Given the description of an element on the screen output the (x, y) to click on. 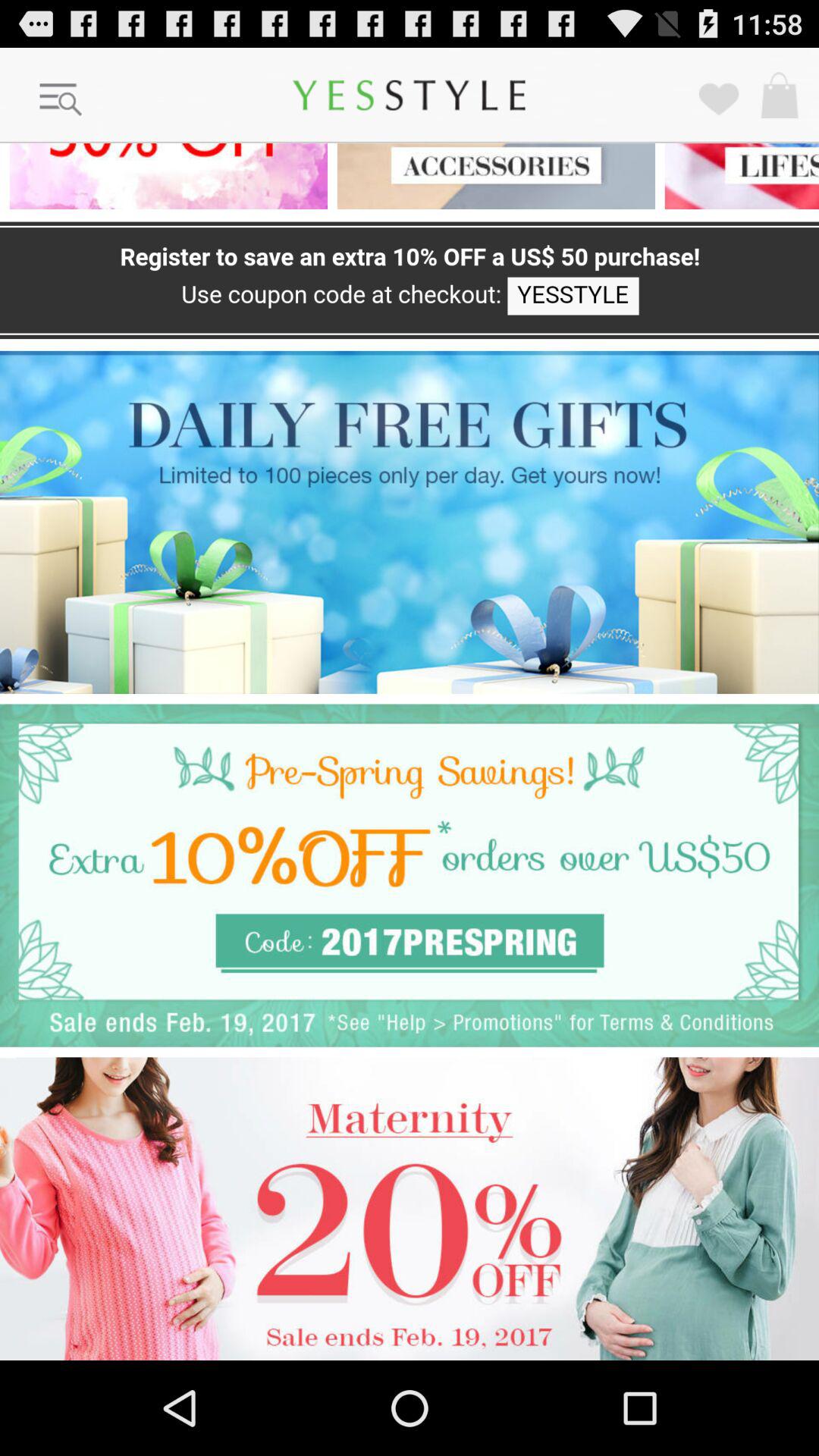
search (61, 100)
